Given the description of an element on the screen output the (x, y) to click on. 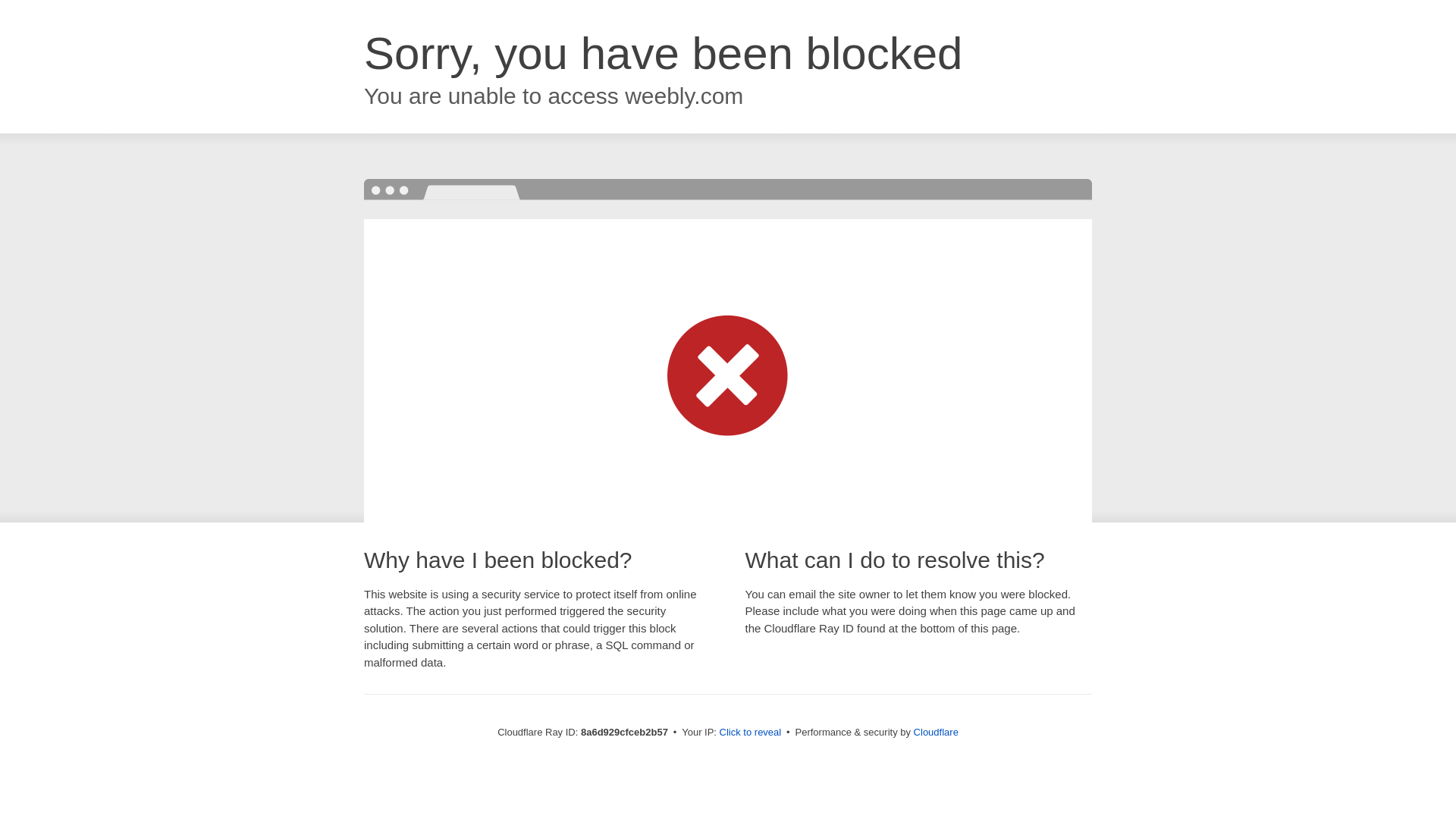
Cloudflare (936, 731)
Click to reveal (750, 732)
